Given the description of an element on the screen output the (x, y) to click on. 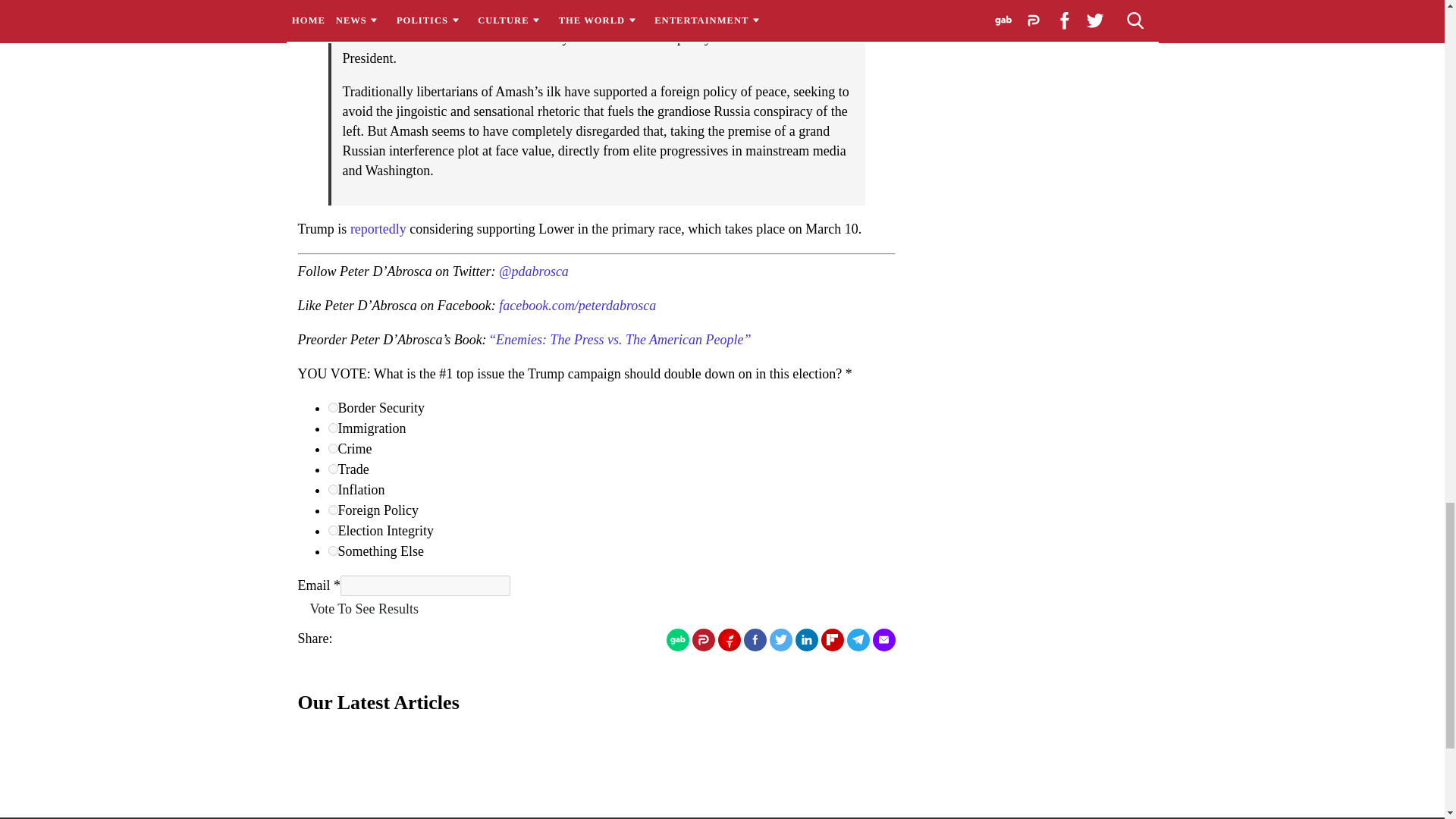
Crime (332, 448)
Inflation (332, 489)
Immigration (332, 428)
Something Else (332, 551)
Election Integrity  (332, 530)
Trade (332, 469)
Foreign Policy  (332, 510)
Border Security  (332, 407)
